Given the description of an element on the screen output the (x, y) to click on. 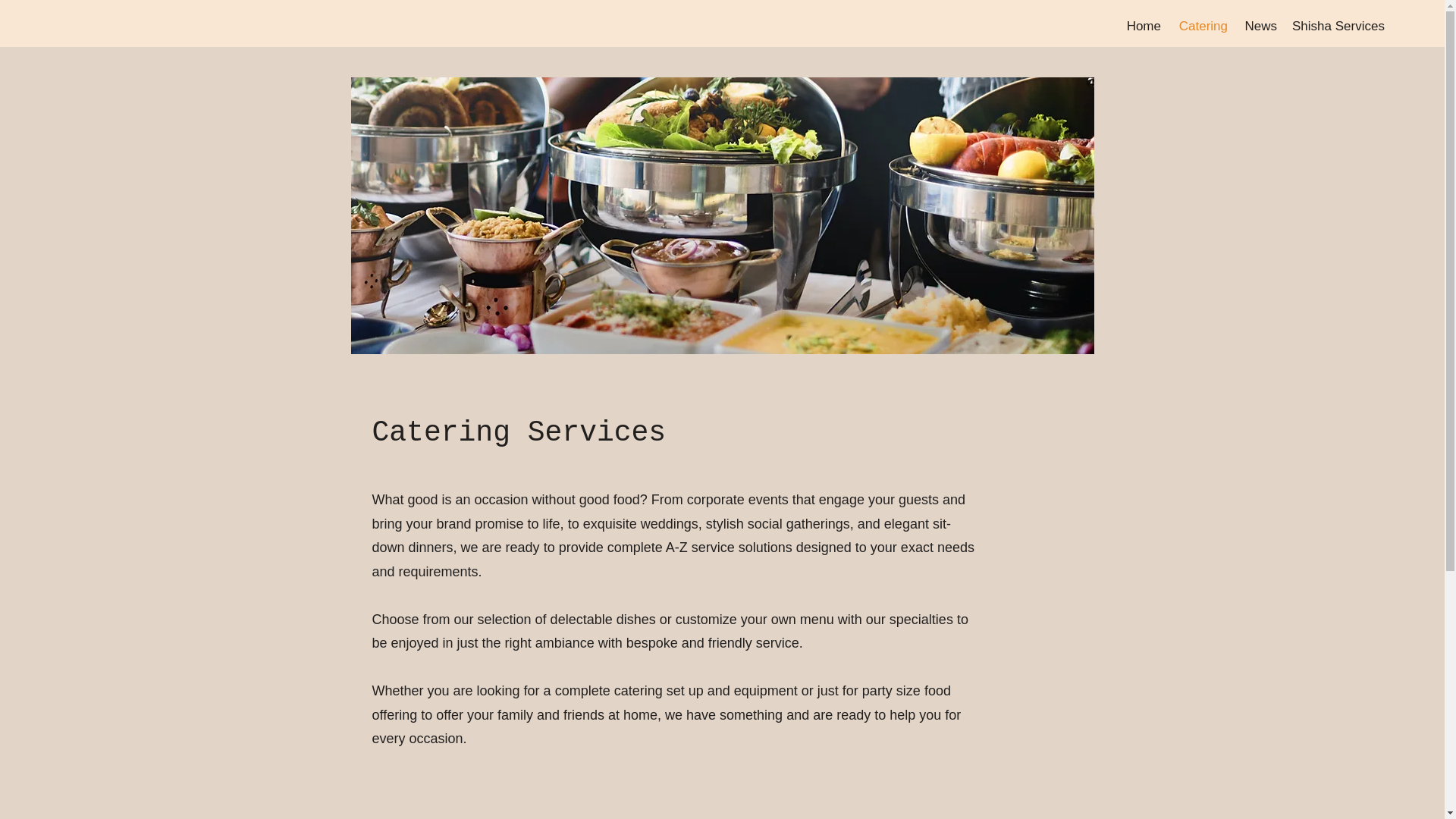
Shisha Services (1337, 26)
Catering (1201, 26)
Home (1142, 26)
News (1259, 26)
